Given the description of an element on the screen output the (x, y) to click on. 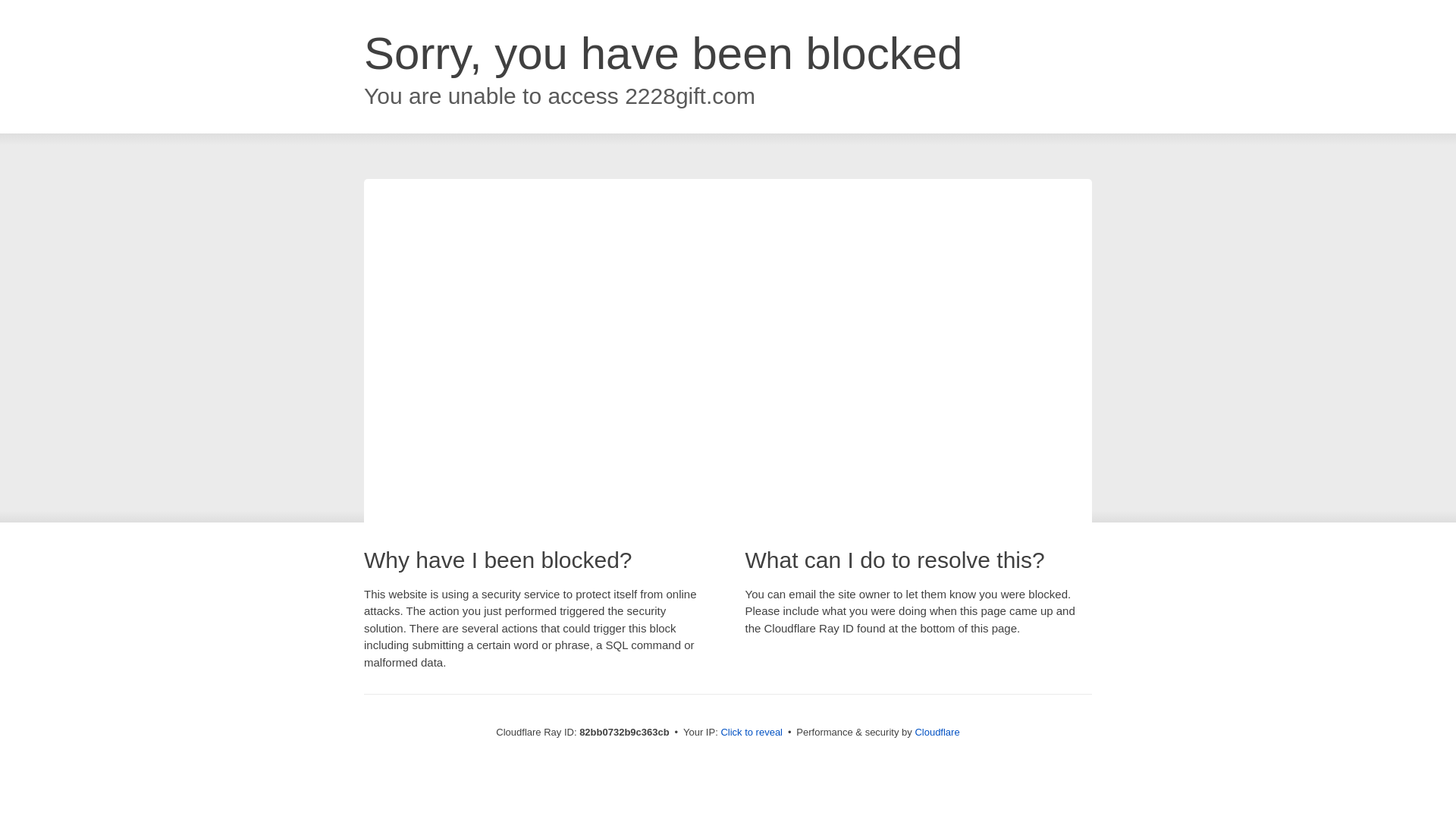
Cloudflare Element type: text (936, 731)
Click to reveal Element type: text (751, 732)
